Given the description of an element on the screen output the (x, y) to click on. 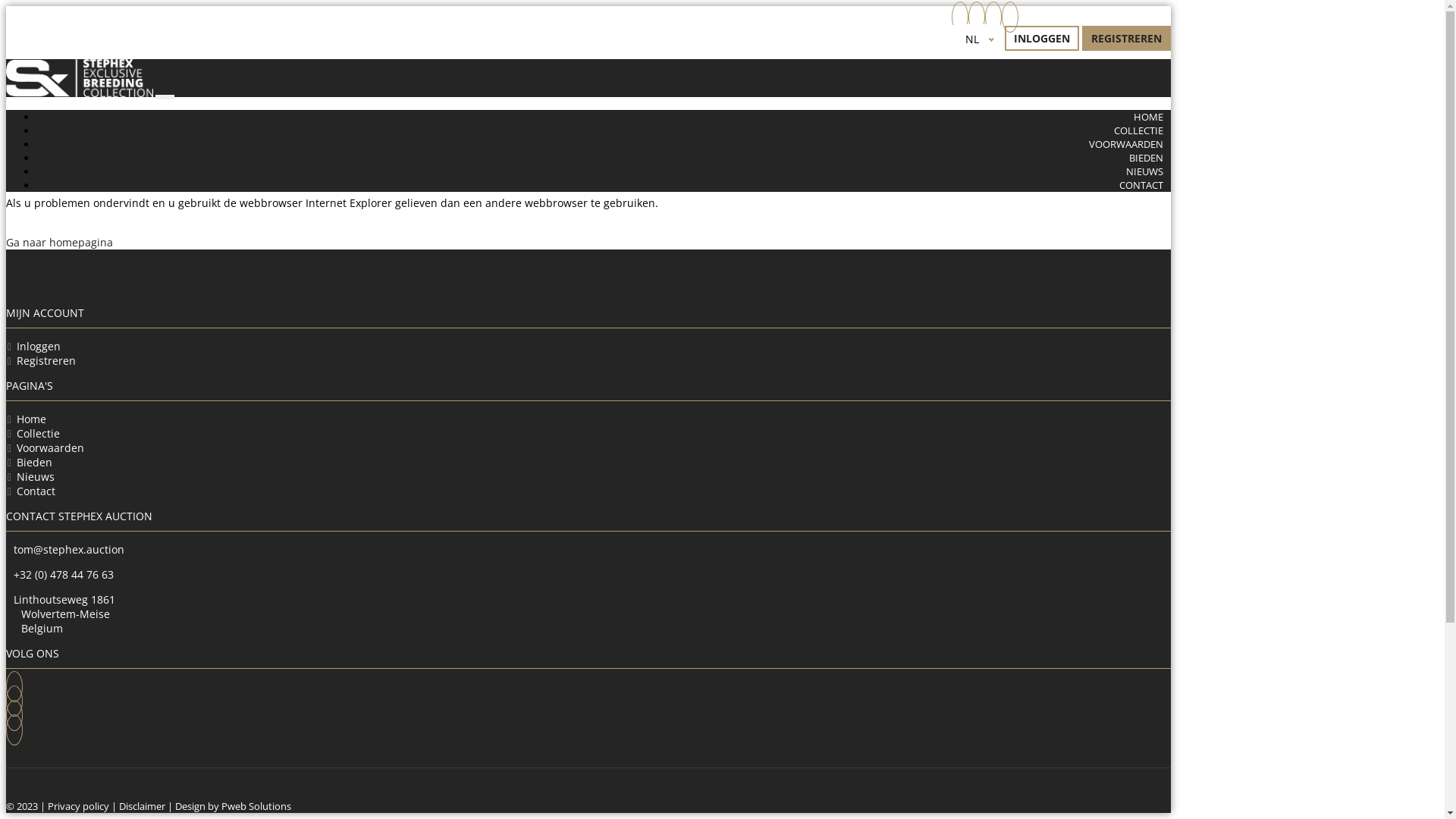
Pweb Solutions Element type: text (256, 806)
tom@stephex.auction Element type: text (68, 549)
Contact Element type: text (35, 490)
Privacy policy Element type: text (78, 806)
Inloggen Element type: text (38, 345)
CONTACT Element type: text (1141, 184)
BIEDEN Element type: text (1146, 157)
VOORWAARDEN Element type: text (1125, 143)
Home Element type: text (31, 418)
Ga naar homepagina Element type: text (59, 242)
Nieuws Element type: text (35, 476)
Disclaimer Element type: text (142, 806)
Bieden Element type: text (34, 462)
Registreren Element type: text (45, 360)
HOME Element type: text (1148, 116)
REGISTREREN Element type: text (1126, 37)
INLOGGEN Element type: text (1041, 37)
Voorwaarden Element type: text (50, 447)
NIEUWS Element type: text (1144, 171)
Collectie Element type: text (37, 433)
COLLECTIE Element type: text (1138, 130)
+32 (0) 478 44 76 63 Element type: text (63, 574)
